Given the description of an element on the screen output the (x, y) to click on. 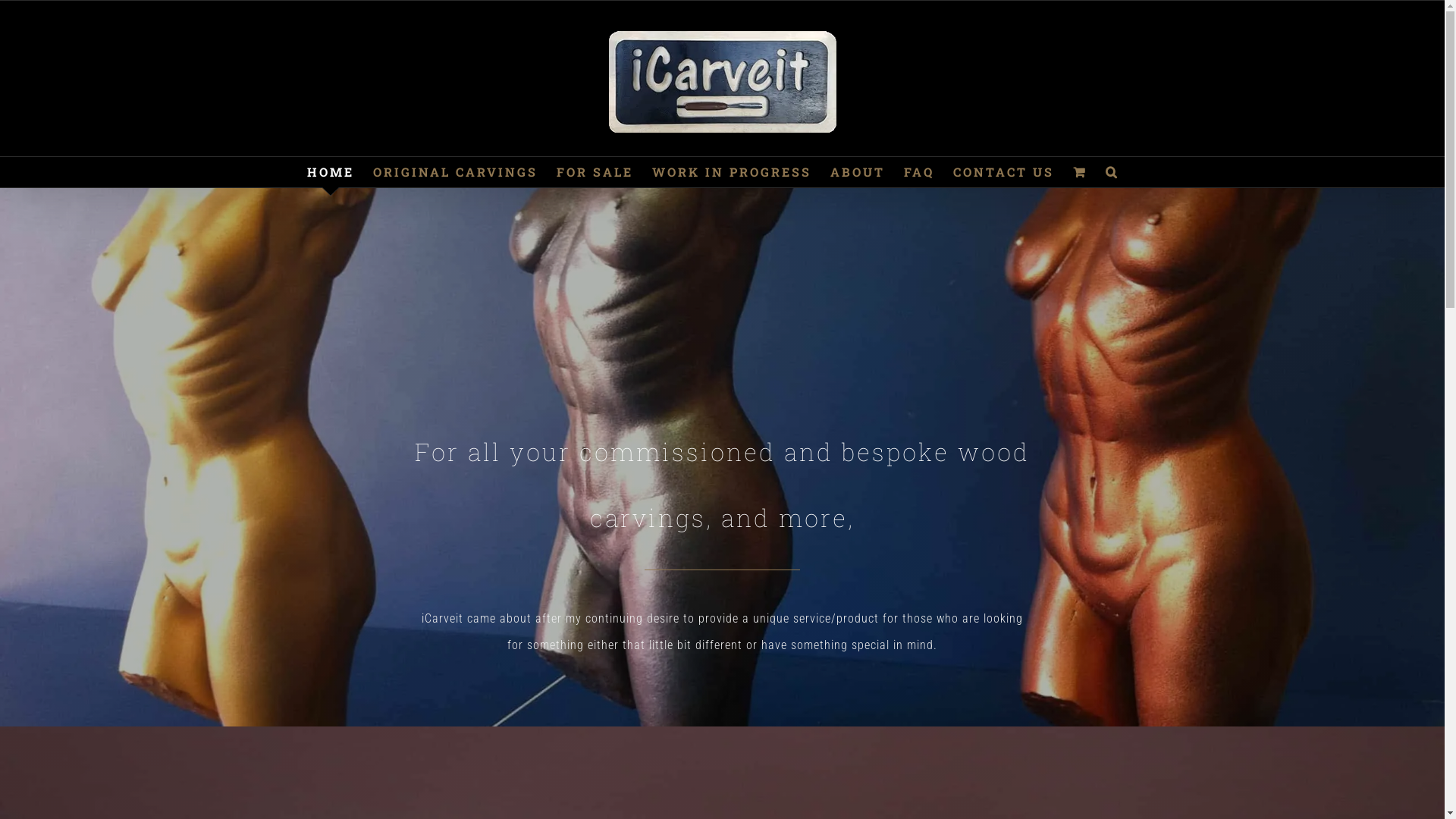
ORIGINAL CARVINGS Element type: text (455, 171)
WORK IN PROGRESS Element type: text (731, 171)
ABOUT Element type: text (856, 171)
FAQ Element type: text (918, 171)
Search Element type: hover (1112, 171)
CONTACT US Element type: text (1002, 171)
FOR SALE Element type: text (594, 171)
HOME Element type: text (329, 171)
